Given the description of an element on the screen output the (x, y) to click on. 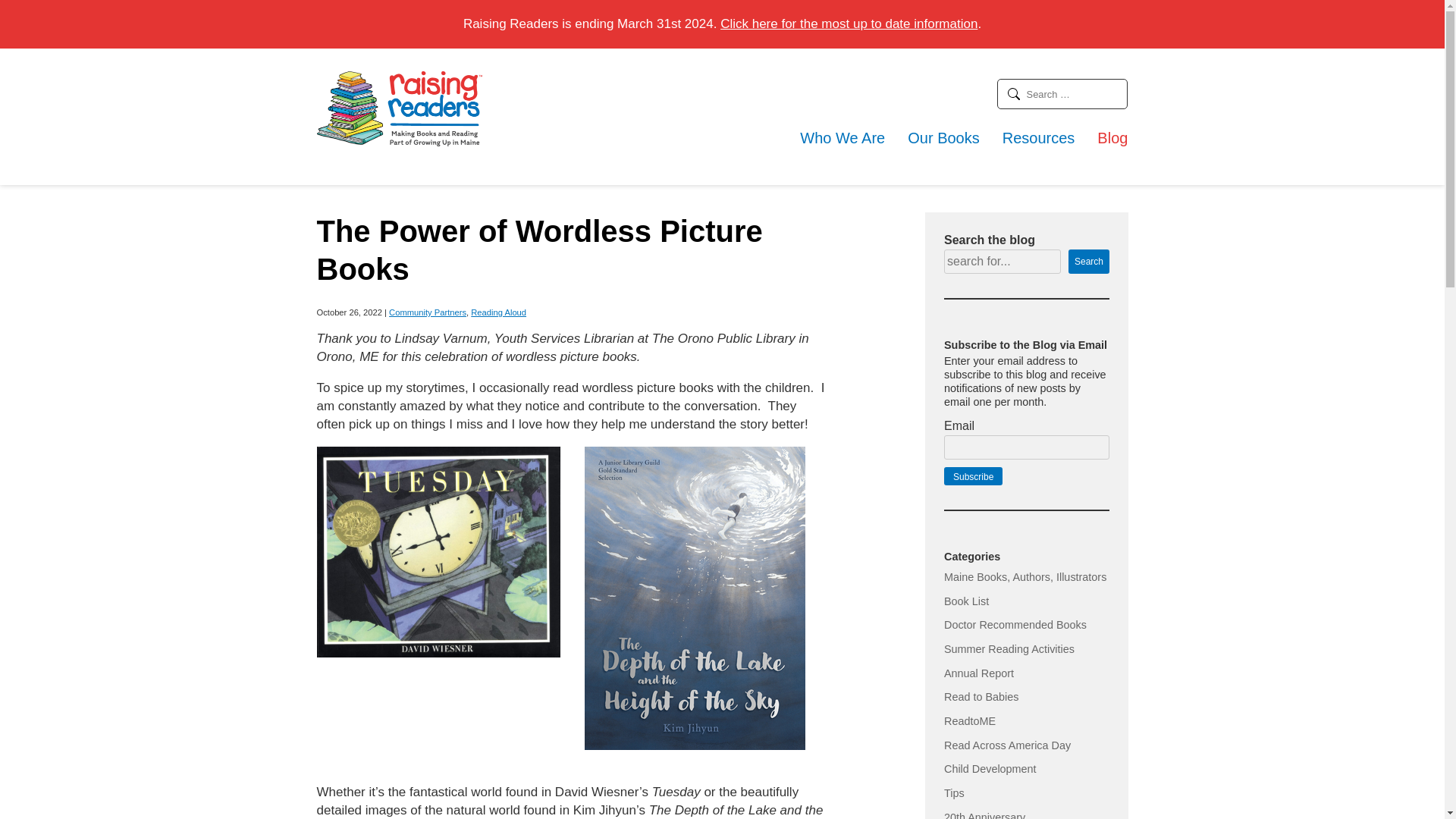
Who We Are (842, 137)
Subscribe (973, 475)
Blog (1111, 137)
Community Partners (426, 311)
20th Anniversary (984, 815)
Search (1088, 261)
Search (1062, 93)
Resources (1039, 137)
Click here for the most up to date information (848, 23)
Summer Reading Activities (1008, 648)
